Given the description of an element on the screen output the (x, y) to click on. 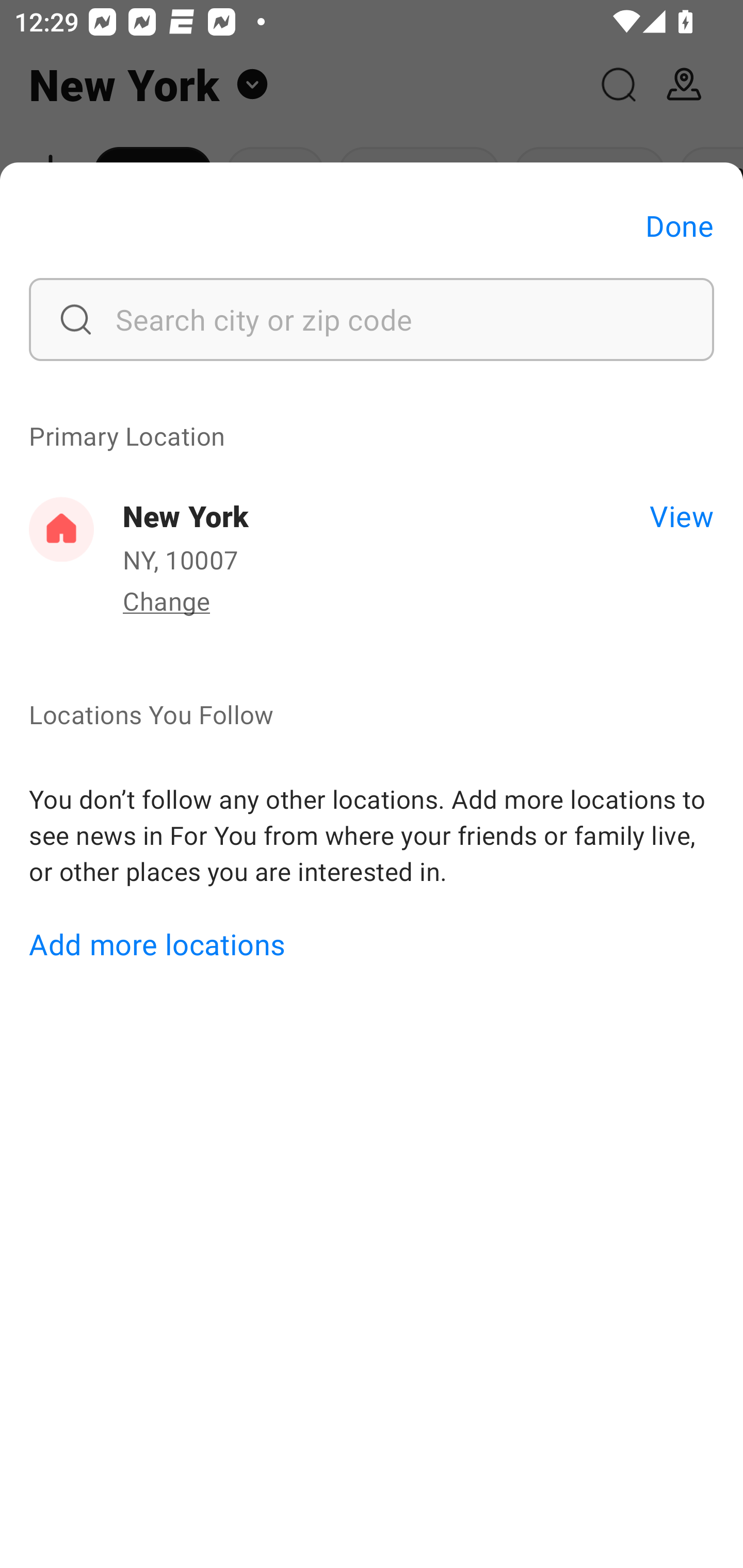
Done (679, 225)
Search city or zip code (371, 318)
View (681, 514)
Change (166, 600)
